Given the description of an element on the screen output the (x, y) to click on. 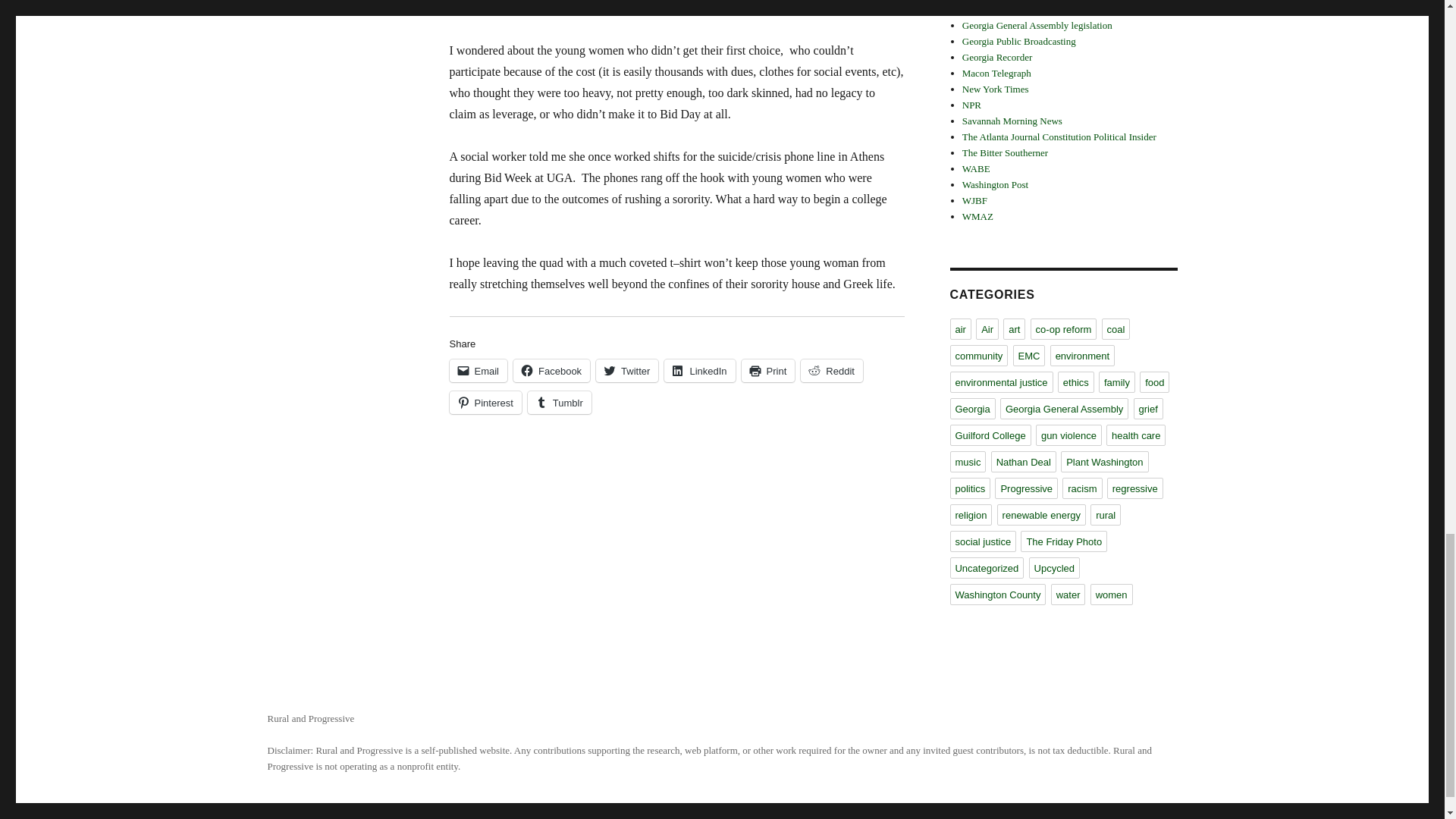
Tumblr (559, 402)
Click to share on Facebook (551, 370)
Click to print (767, 370)
Reddit (831, 370)
Facebook (551, 370)
Click to share on Pinterest (484, 402)
Click to share on Tumblr (559, 402)
Click to share on Twitter (626, 370)
LinkedIn (699, 370)
Email (477, 370)
